Given the description of an element on the screen output the (x, y) to click on. 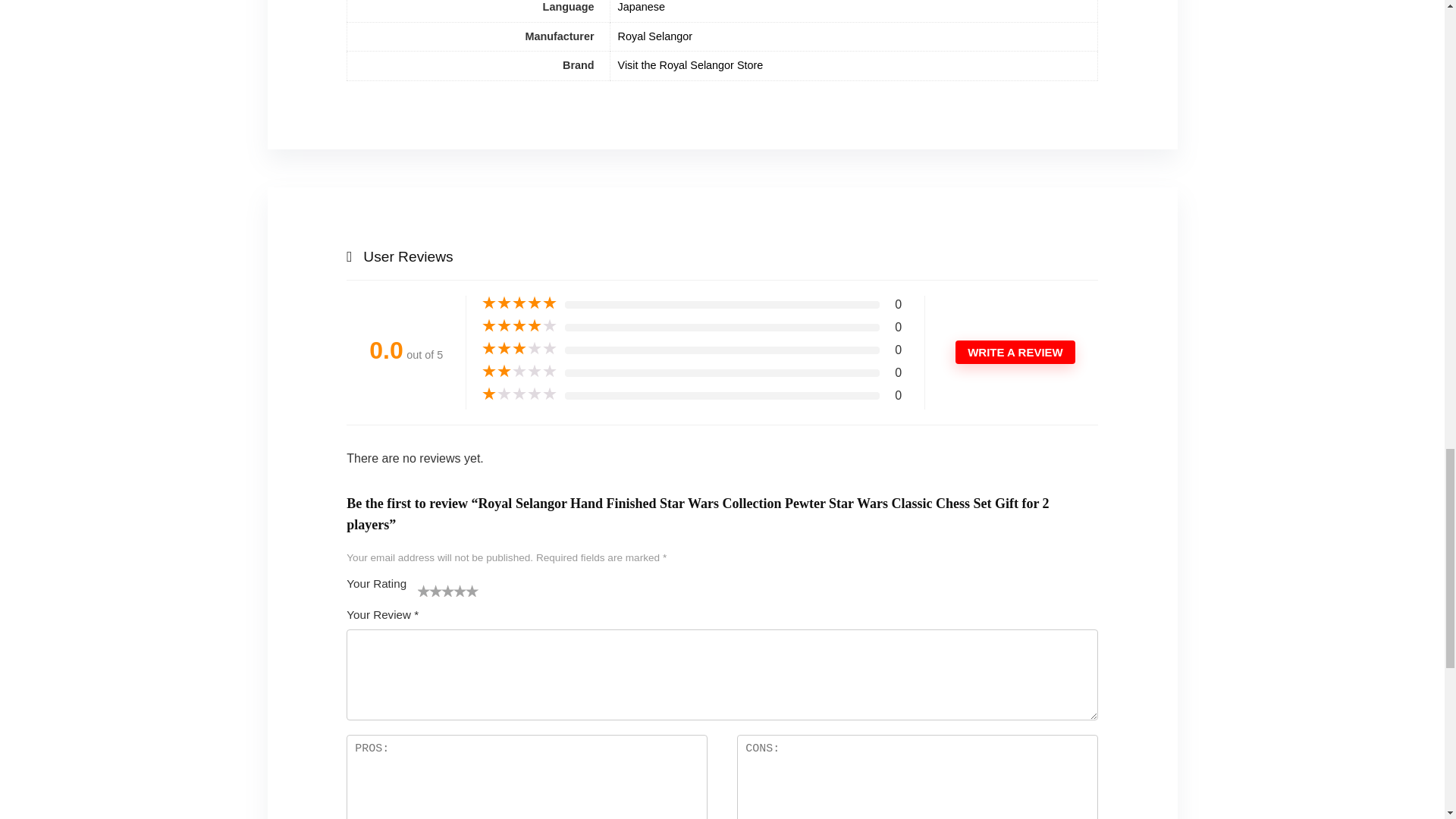
Rated 5 out of 5 (519, 303)
WRITE A REVIEW (1015, 351)
Rated 2 out of 5 (519, 371)
Rated 4 out of 5 (519, 325)
Rated 3 out of 5 (519, 348)
Rated 1 out of 5 (519, 394)
